Given the description of an element on the screen output the (x, y) to click on. 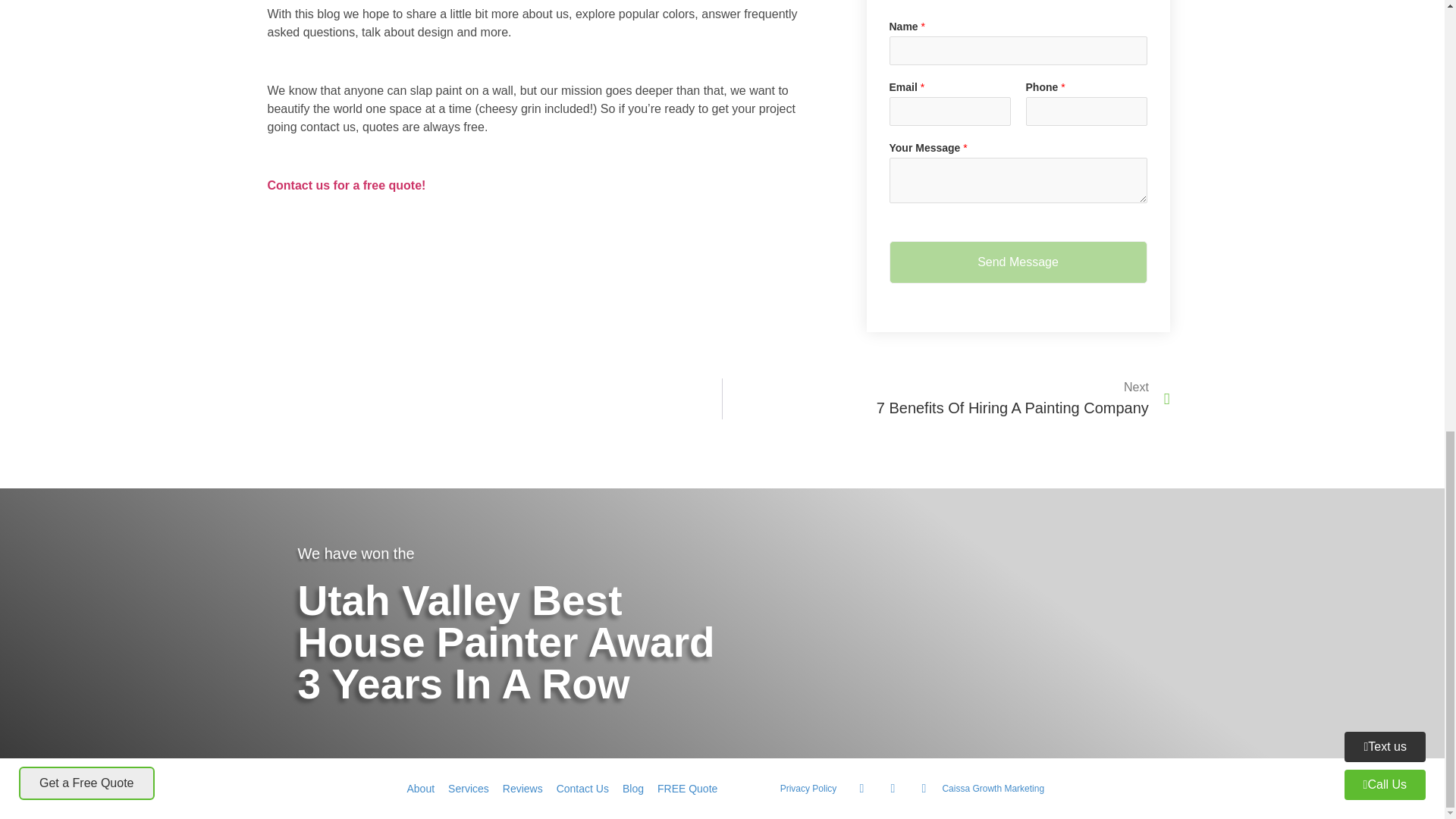
About (421, 788)
Services (946, 398)
Contact us for a free quote! (468, 788)
Send Message (345, 185)
